Given the description of an element on the screen output the (x, y) to click on. 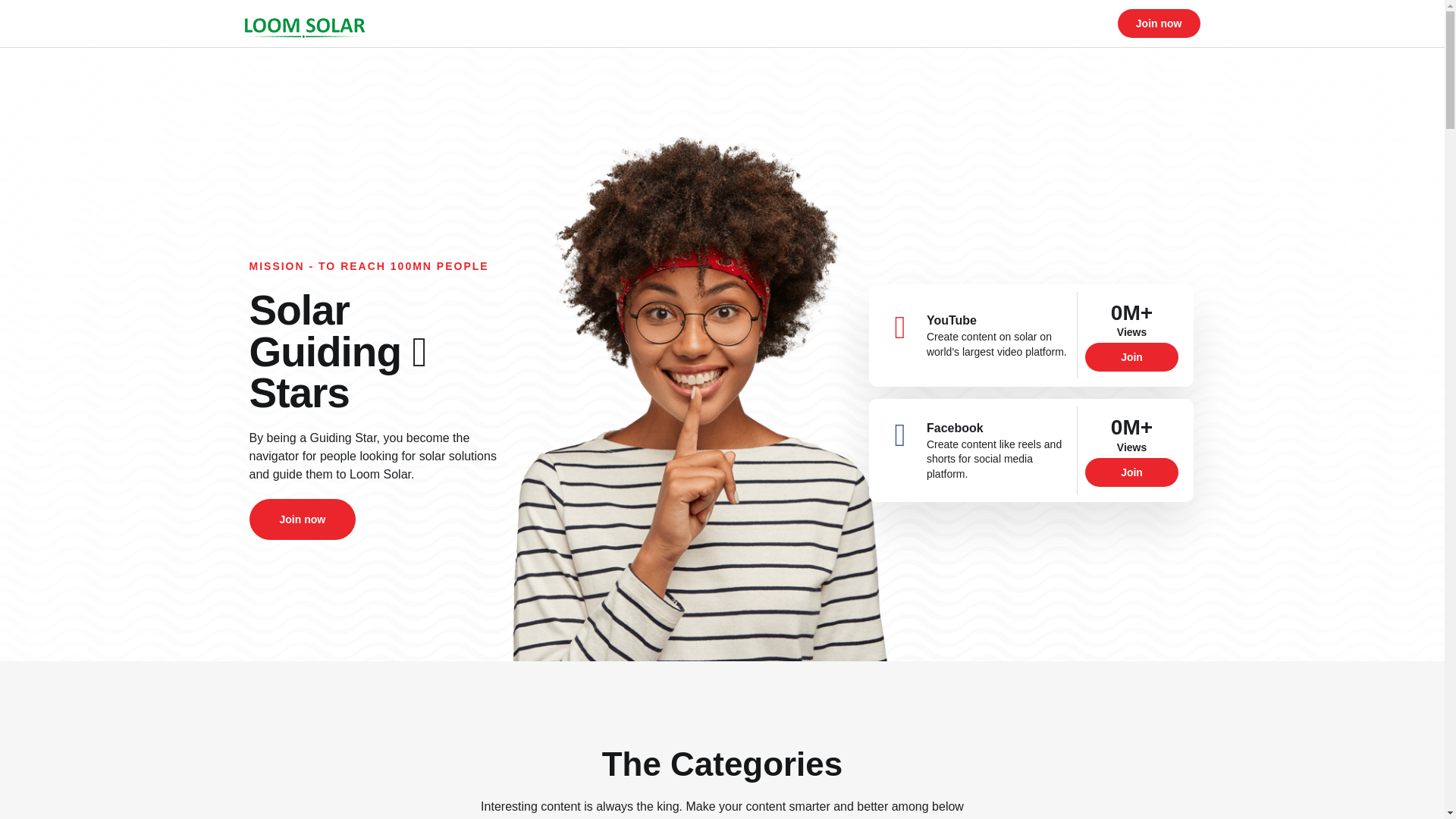
Join now (1158, 23)
Join now (301, 482)
Join (1130, 429)
Join (1130, 534)
